Given the description of an element on the screen output the (x, y) to click on. 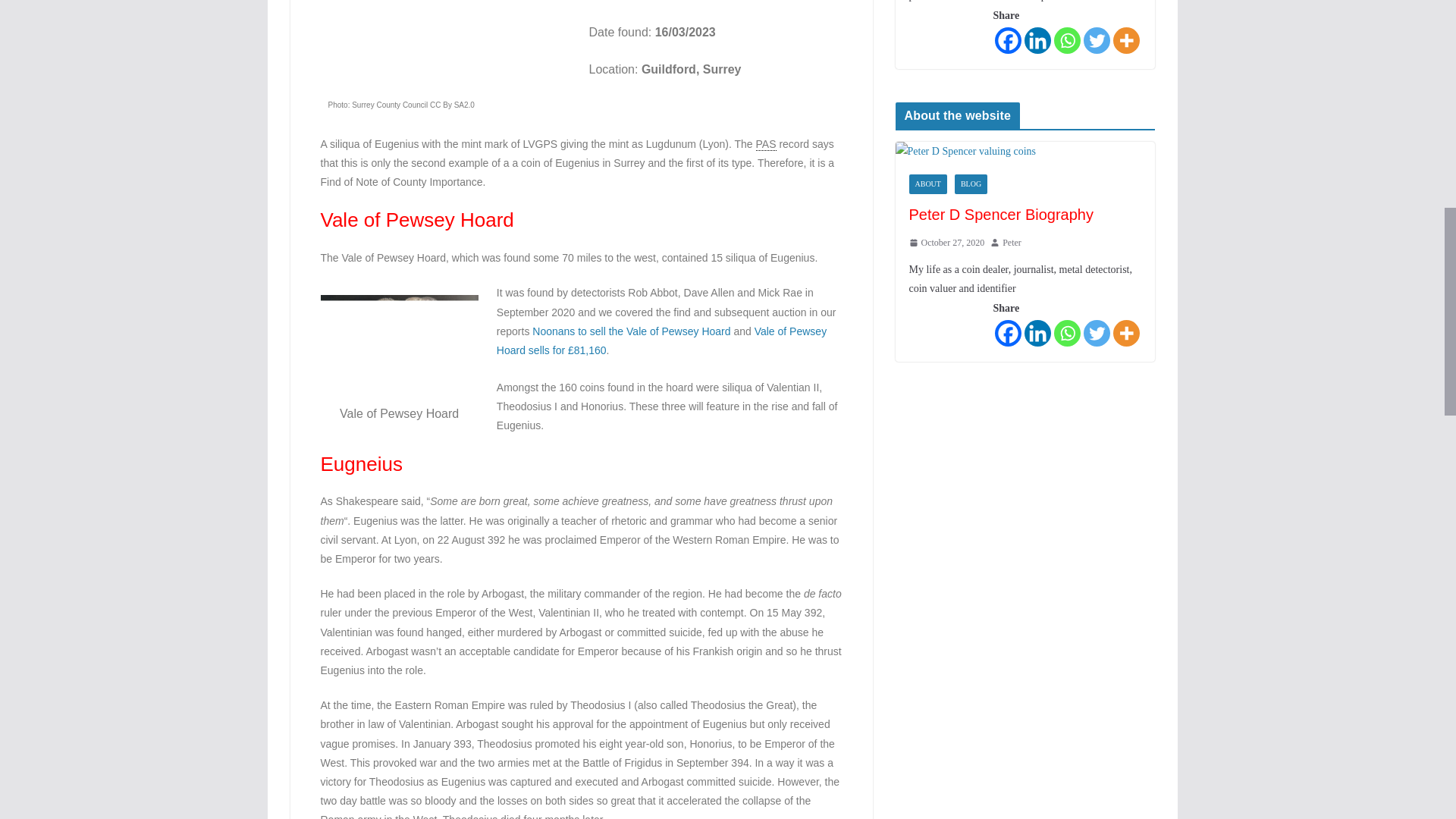
Portable Antiquities Scheme (765, 144)
Noonans to sell the Vale of Pewsey Hoard (631, 331)
